Given the description of an element on the screen output the (x, y) to click on. 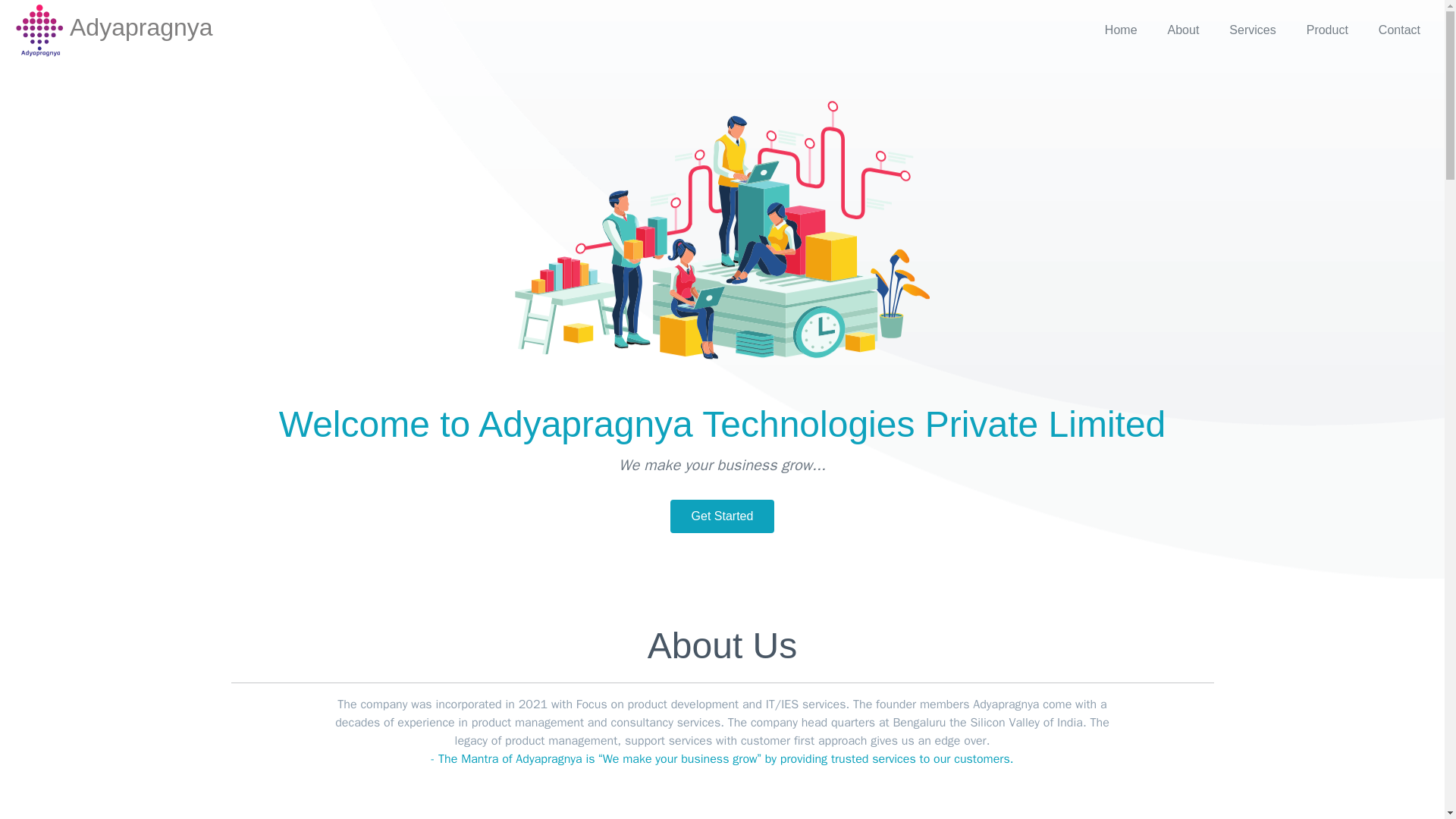
Services (1252, 29)
Product (1326, 29)
Get Started (721, 516)
Contact (1398, 29)
Get Started (721, 516)
Adyapragnya (110, 30)
Home (1121, 29)
About (1183, 29)
Home (1121, 29)
Services (1252, 29)
About (1183, 29)
Product (1326, 29)
Adyapragnya (110, 30)
Contact (1398, 29)
